Given the description of an element on the screen output the (x, y) to click on. 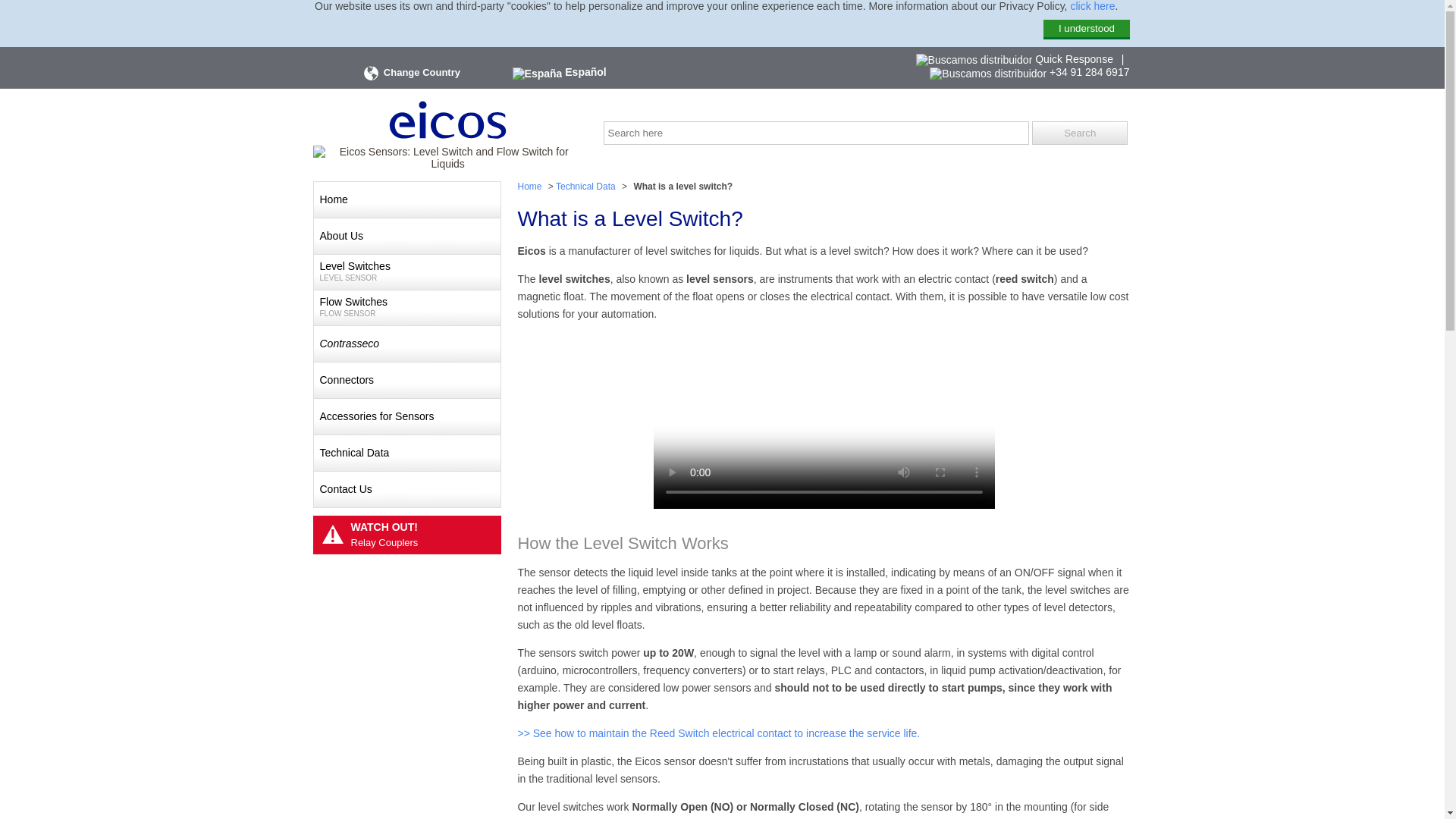
Home (530, 186)
Technical Data (588, 186)
Accessories for Sensors (407, 416)
Home (407, 199)
Click and check the cookie usage policy on our website (1092, 6)
Contact Us (407, 488)
Change Country (407, 271)
About Us (410, 72)
Quick Response (407, 235)
Search (1014, 58)
Choose your country or region (1079, 132)
Choose your country or region (370, 72)
Technical Data (410, 72)
